Given the description of an element on the screen output the (x, y) to click on. 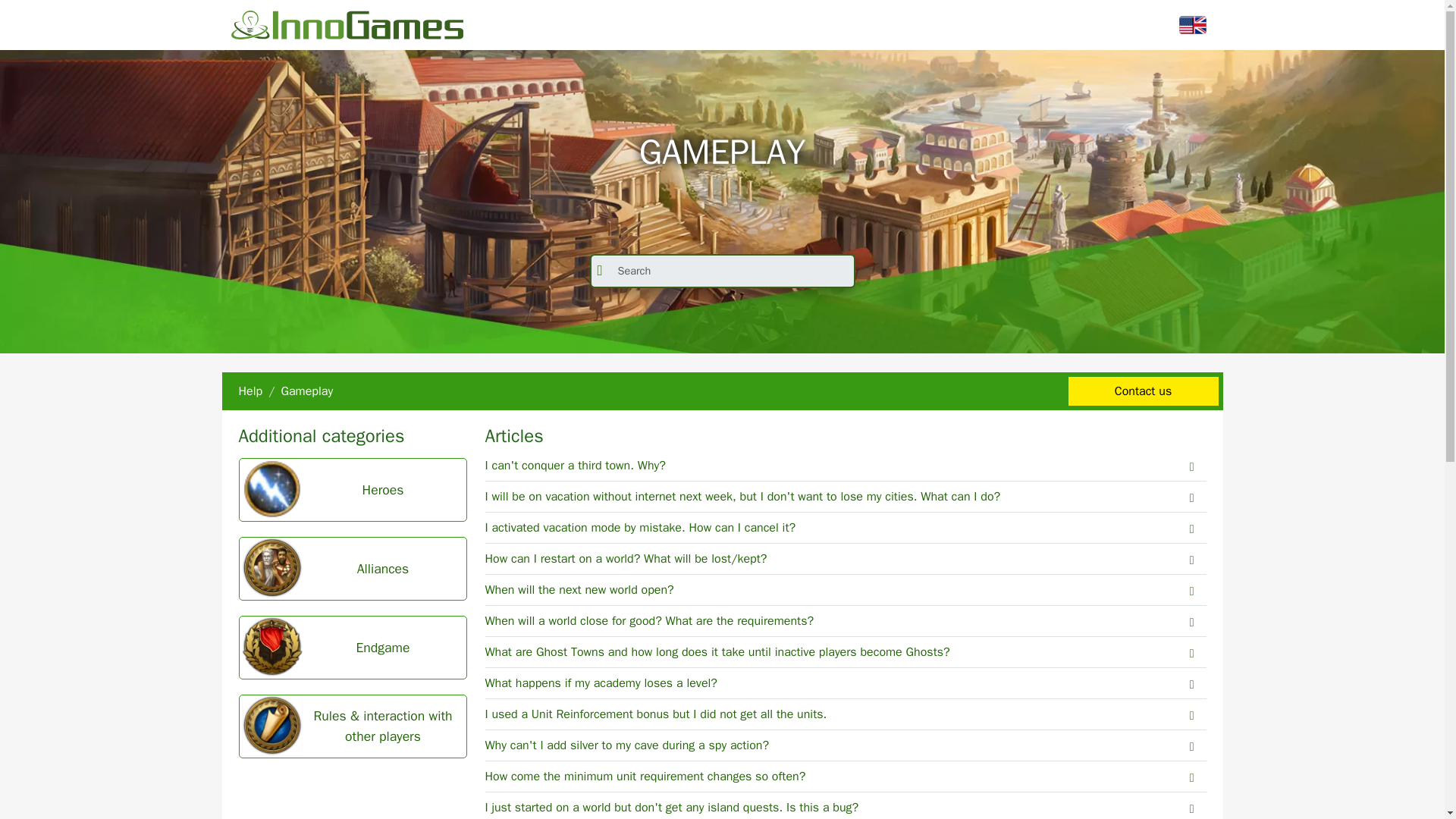
I activated vacation mode by mistake. How can I cancel it? (845, 527)
How come the minimum unit requirement changes so often? (845, 776)
When will a world close for good? What are the requirements? (845, 621)
Endgame (352, 647)
When will the next new world open? (845, 590)
Gameplay (307, 391)
Contact us (1142, 390)
What happens if my academy loses a level? (845, 683)
I can't conquer a third town. Why? (845, 465)
Why can't I add silver to my cave during a spy action? (845, 745)
Alliances (352, 568)
Help (250, 391)
